Given the description of an element on the screen output the (x, y) to click on. 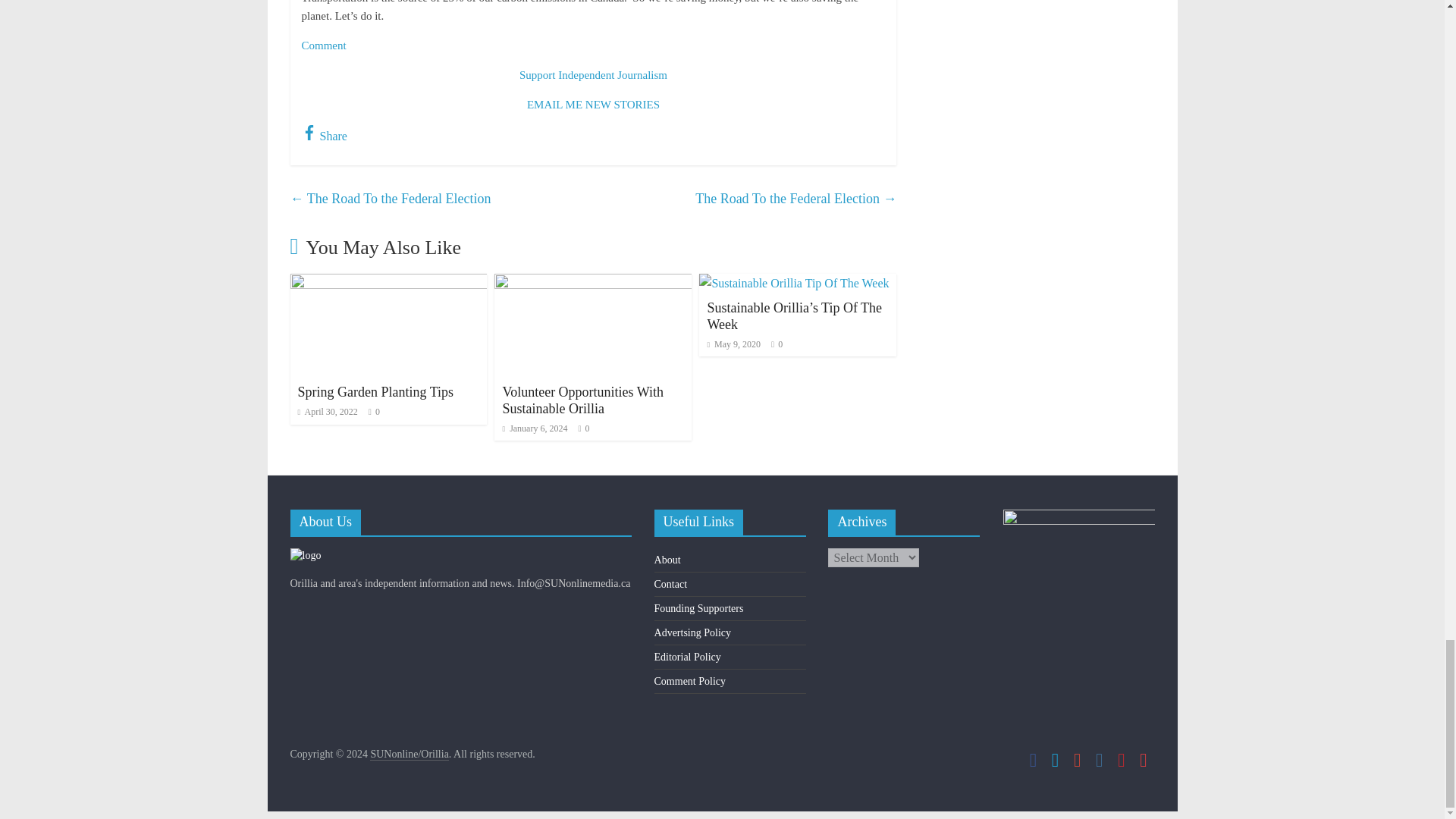
2:11 pm (534, 428)
Share (324, 135)
Spring Garden Planting Tips (374, 391)
Support Independent Journalism (592, 74)
9:00 am (733, 344)
Spring Garden Planting Tips (387, 282)
Volunteer Opportunities With Sustainable Orillia (582, 400)
EMAIL ME NEW STORIES (593, 104)
April 30, 2022 (326, 411)
Spring Garden Planting Tips (374, 391)
